Given the description of an element on the screen output the (x, y) to click on. 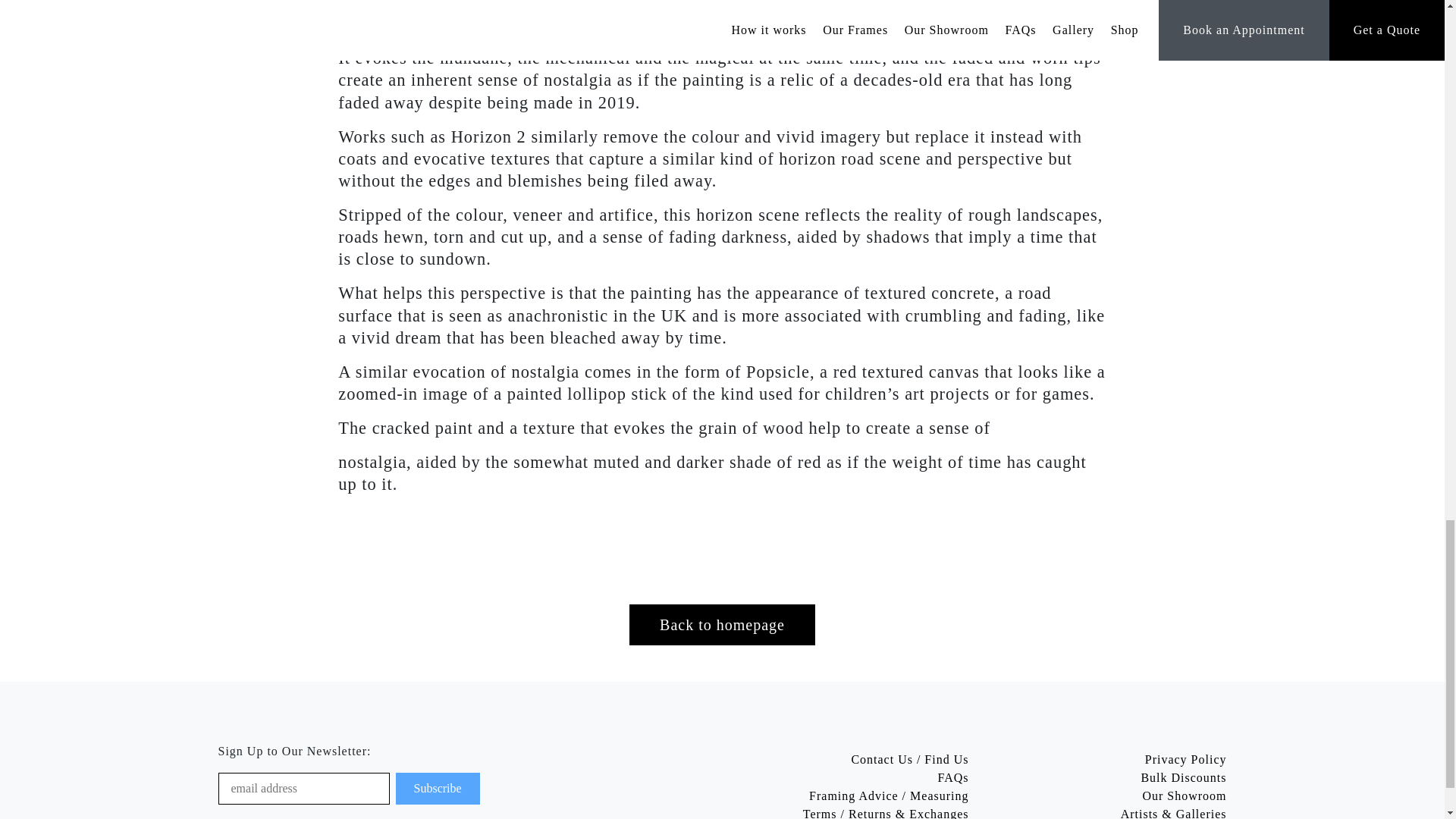
Subscribe (438, 788)
FAQs (952, 777)
Our Showroom (1183, 795)
Bulk Discounts (1182, 777)
Privacy Policy (1185, 758)
Subscribe (438, 788)
Back to homepage (721, 624)
